Given the description of an element on the screen output the (x, y) to click on. 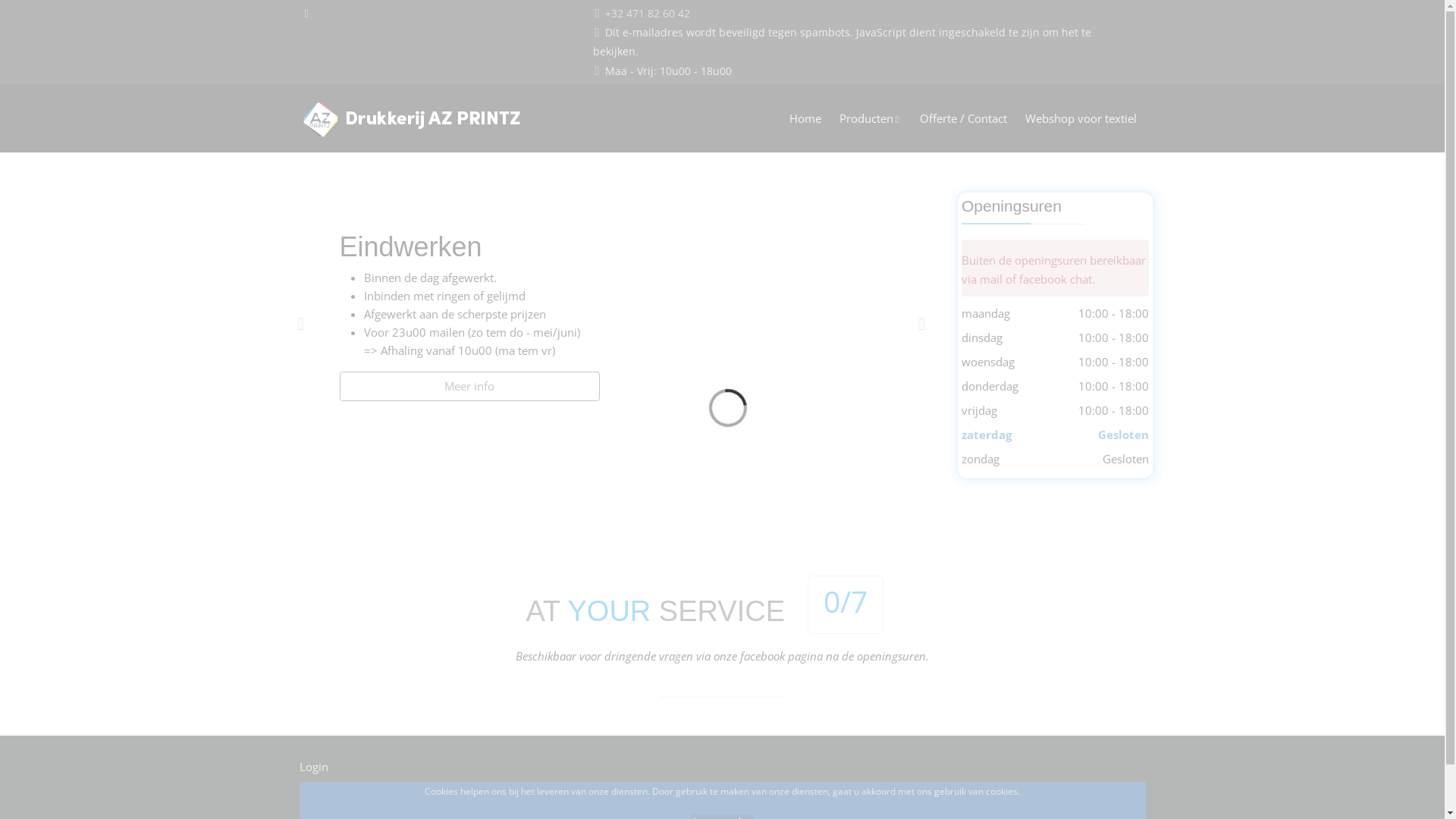
Home Element type: text (805, 118)
Producten Element type: text (870, 118)
Meer info Element type: text (469, 386)
Login Element type: text (312, 766)
+32 471 82 60 42 Element type: text (647, 13)
Offerte / Contact Element type: text (962, 118)
Webshop voor textiel Element type: text (1080, 118)
